Given the description of an element on the screen output the (x, y) to click on. 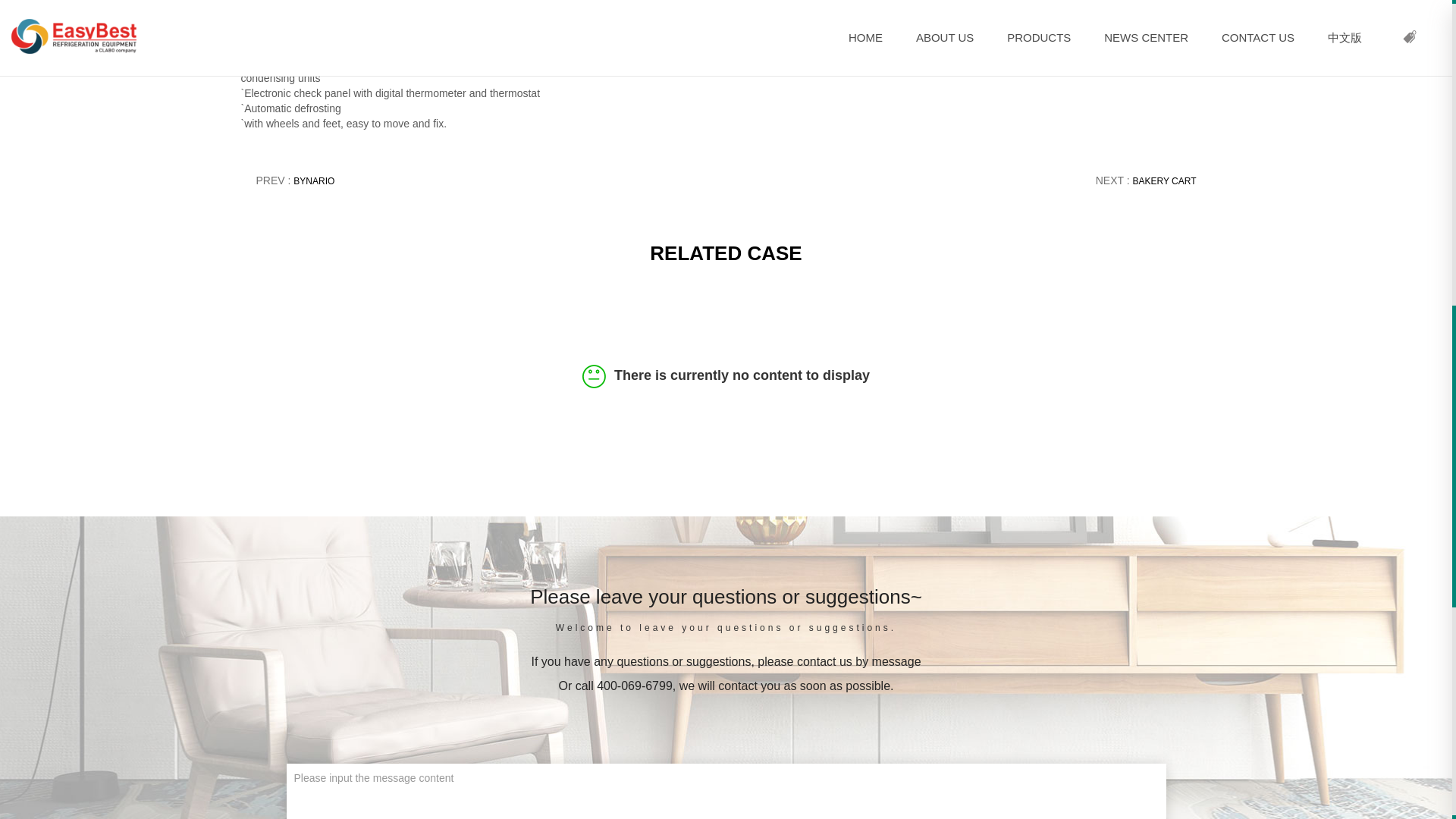
PREV : BYNARIO (295, 180)
NEXT : BAKERY CART (1146, 180)
